Given the description of an element on the screen output the (x, y) to click on. 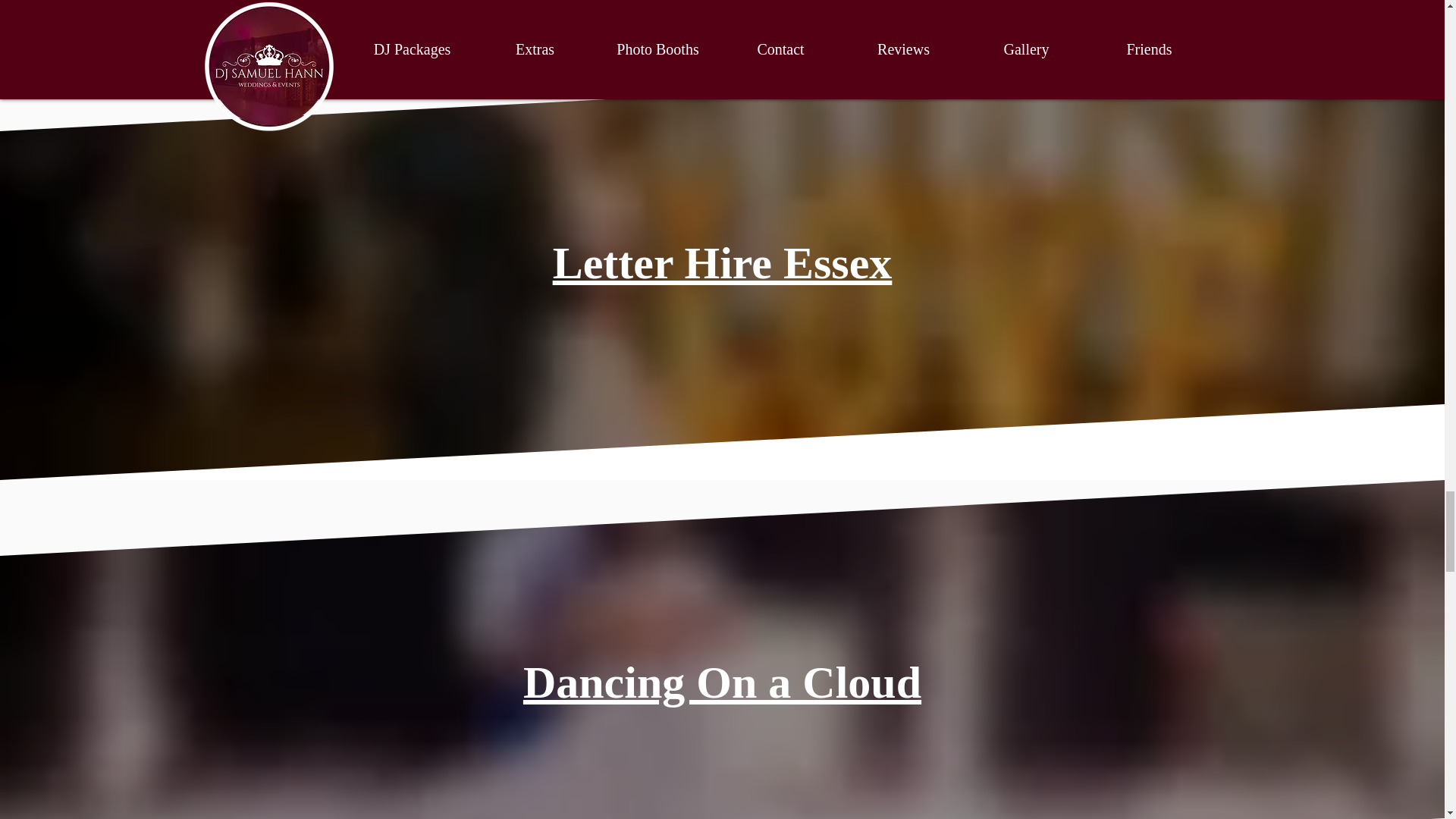
Letter Hire Essex (722, 263)
Dancing On a Cloud (721, 682)
